Given the description of an element on the screen output the (x, y) to click on. 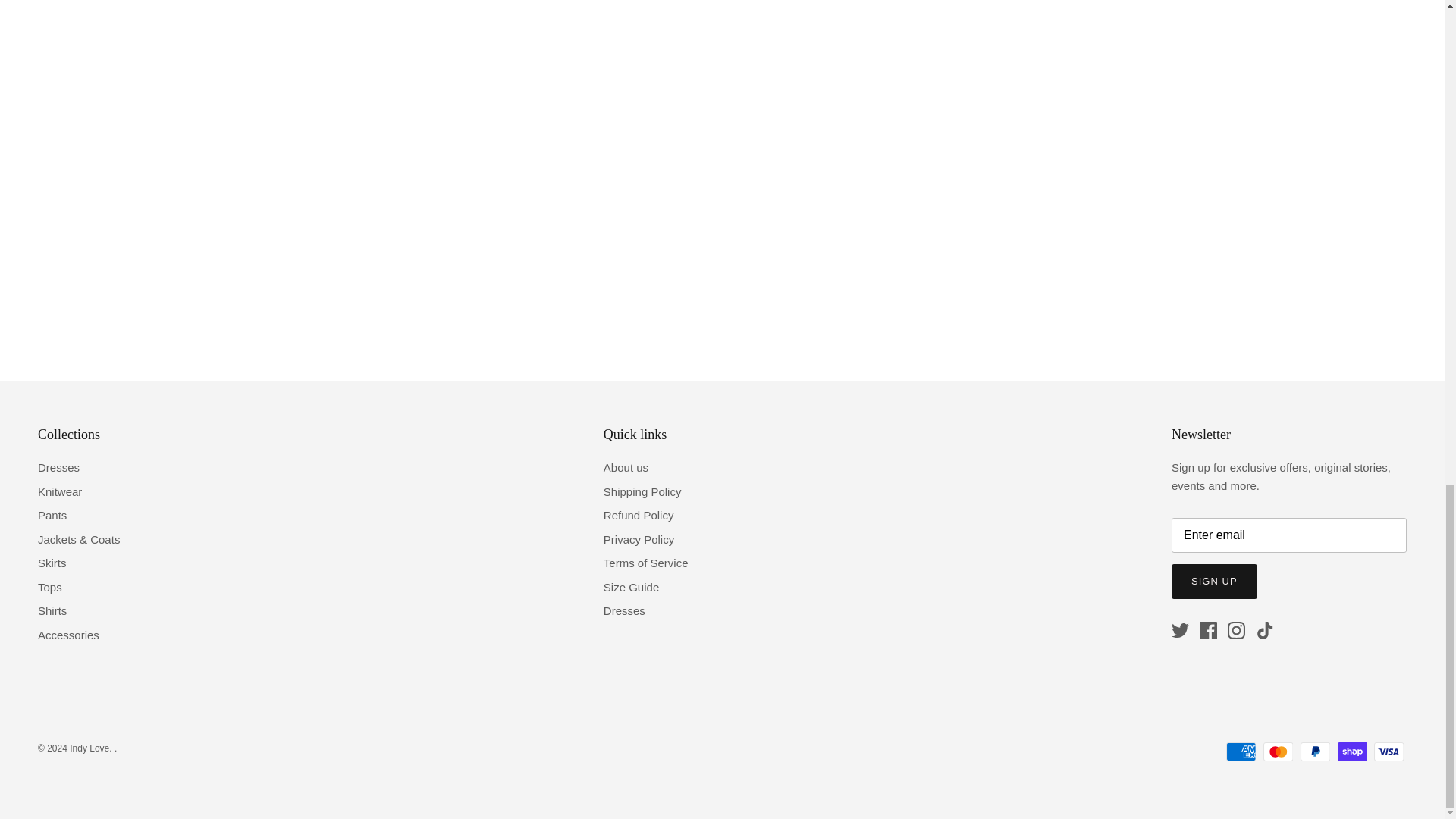
Mastercard (1277, 751)
PayPal (1315, 751)
Facebook (1208, 630)
Instagram (1235, 630)
Visa (1388, 751)
American Express (1240, 751)
Twitter (1180, 630)
Shop Pay (1352, 751)
